Given the description of an element on the screen output the (x, y) to click on. 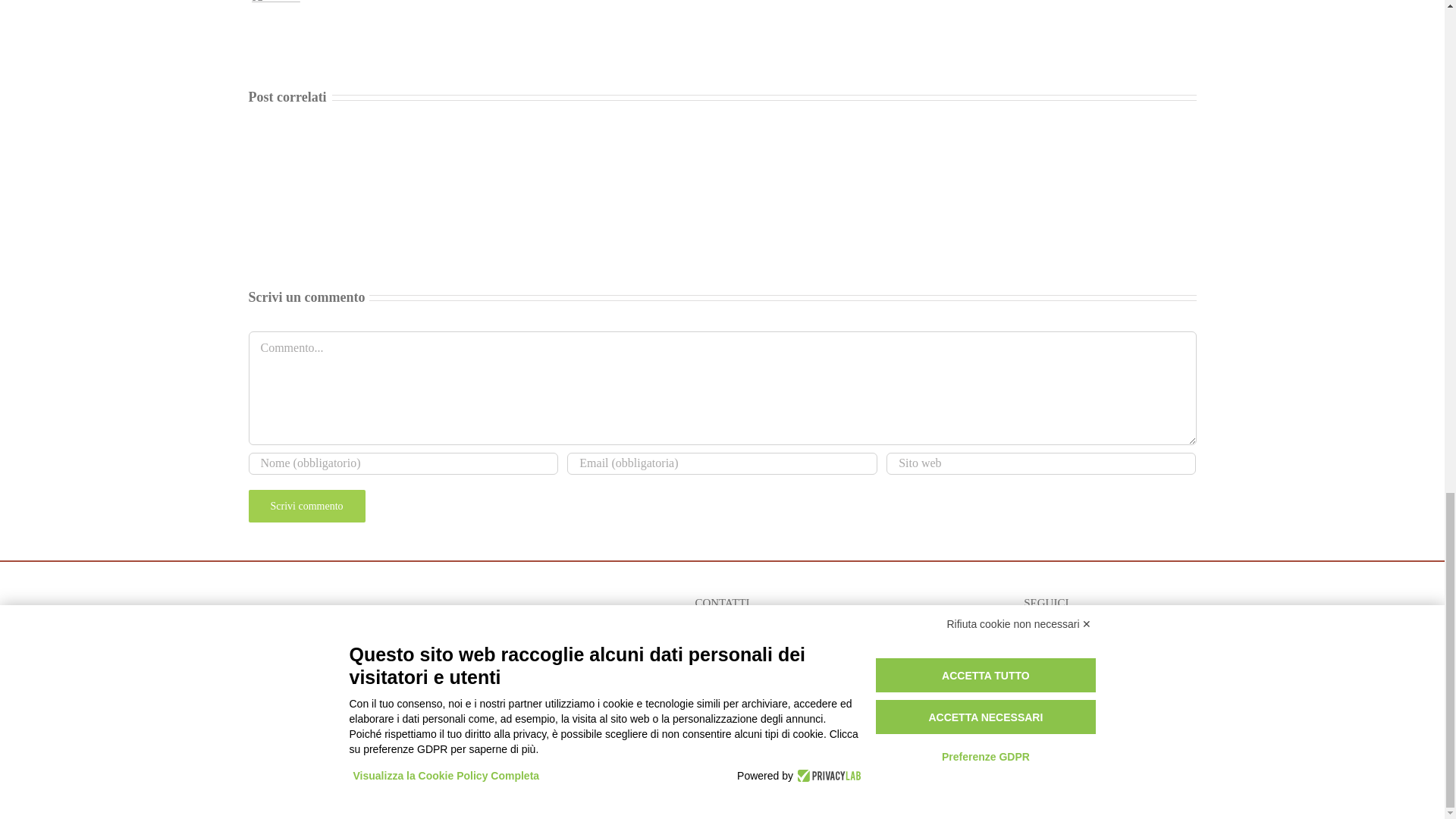
Scrivi commento (306, 505)
